Given the description of an element on the screen output the (x, y) to click on. 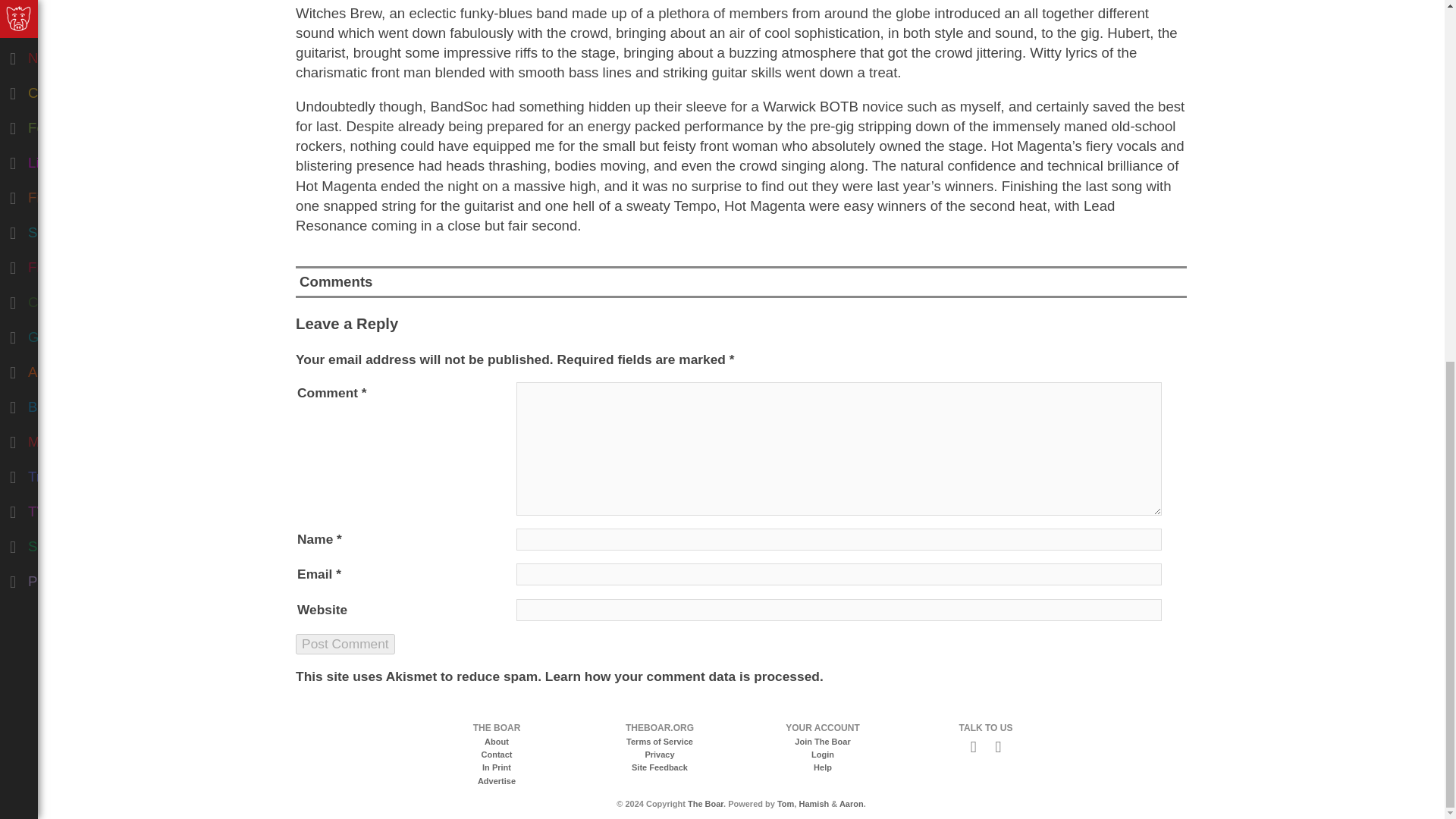
Contact (496, 754)
Post Comment (344, 643)
Learn how your comment data is processed (681, 676)
Login (822, 754)
Advertise (496, 780)
The Boar (705, 803)
Post Comment (344, 643)
About (496, 741)
In Print (496, 767)
